Given the description of an element on the screen output the (x, y) to click on. 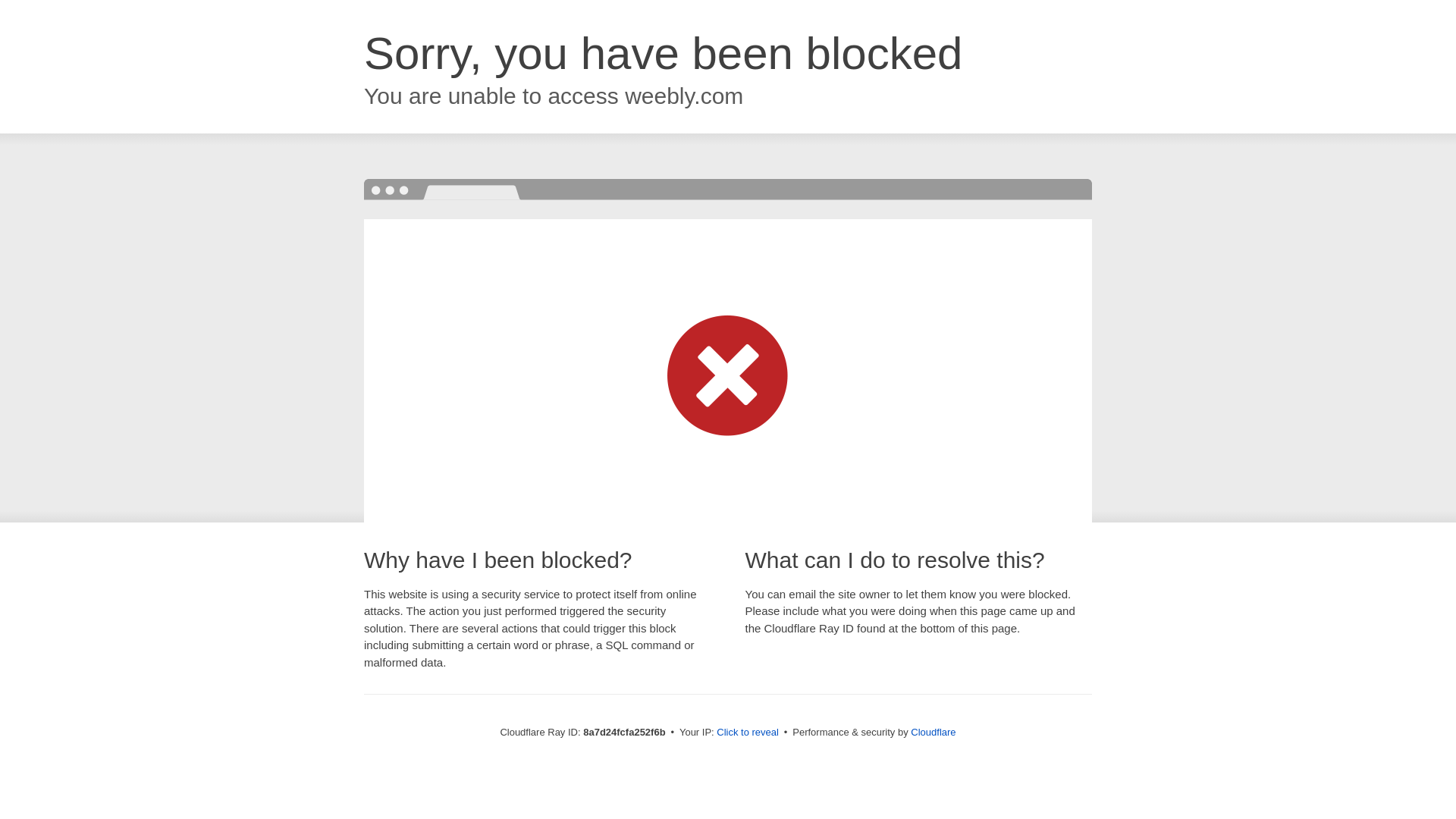
Cloudflare (933, 731)
Click to reveal (747, 732)
